Given the description of an element on the screen output the (x, y) to click on. 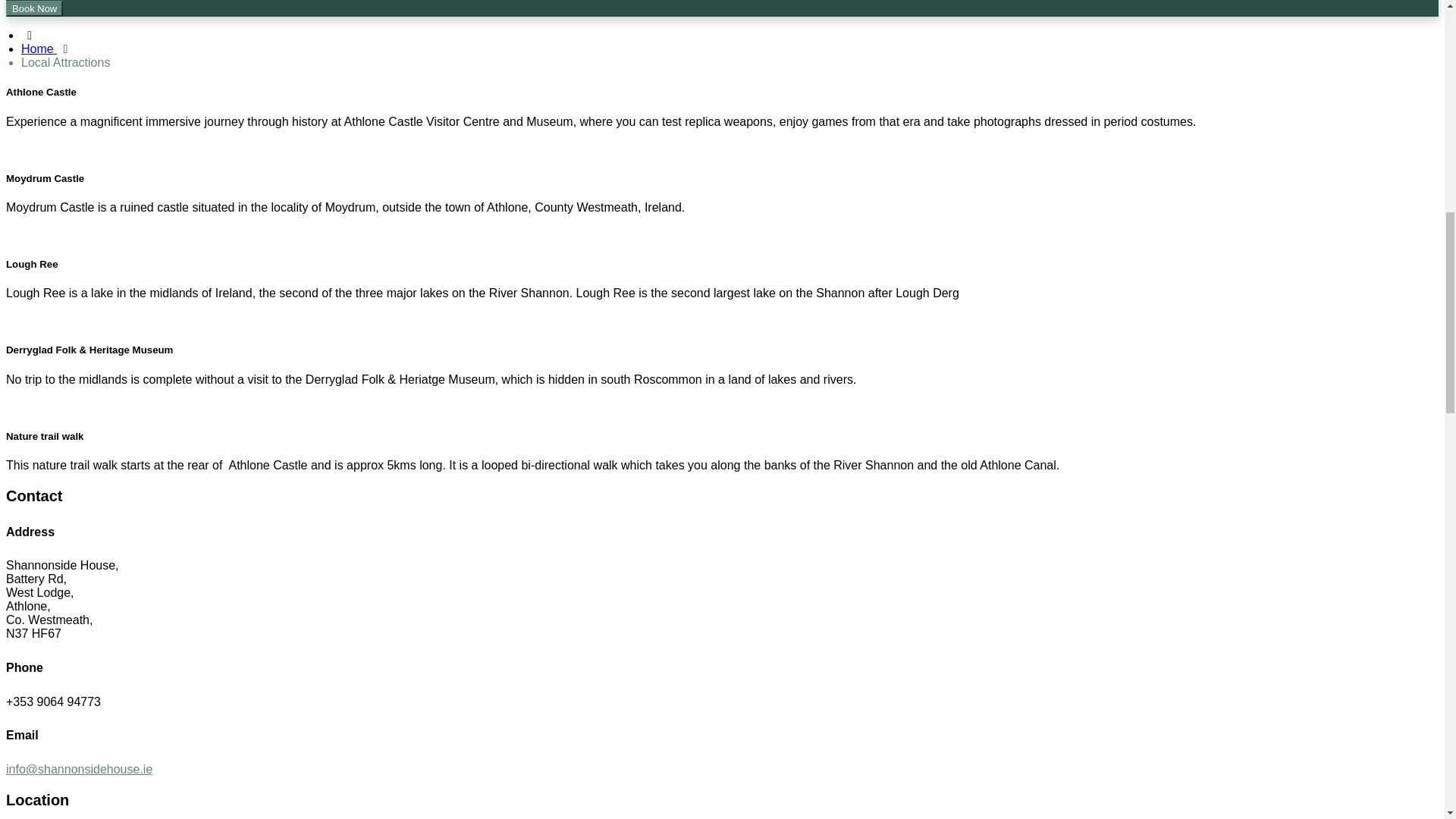
Book Now (33, 8)
Book Now (33, 8)
Home (47, 48)
